Given the description of an element on the screen output the (x, y) to click on. 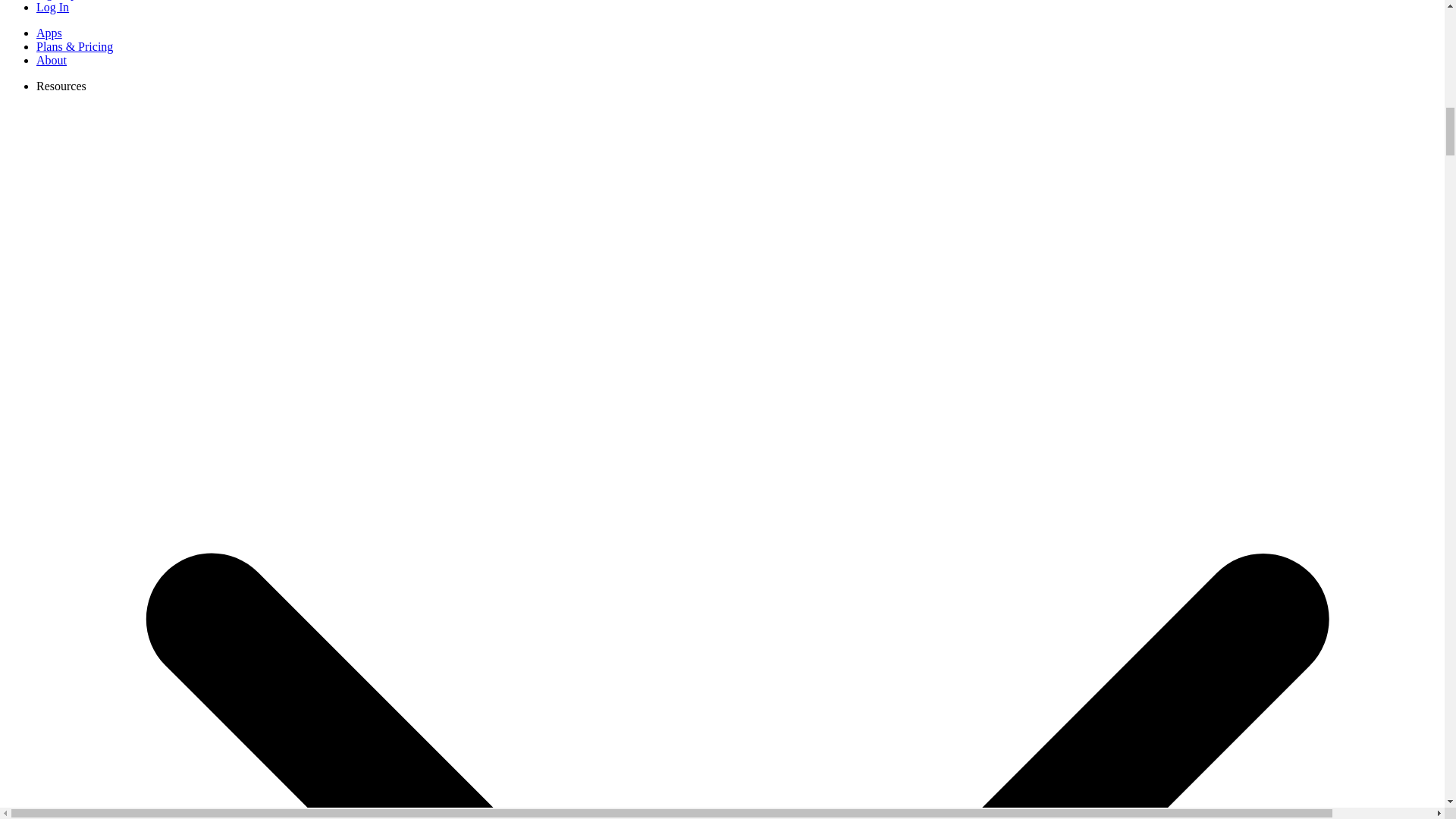
About (51, 60)
Apps (49, 32)
Log In (52, 6)
